Given the description of an element on the screen output the (x, y) to click on. 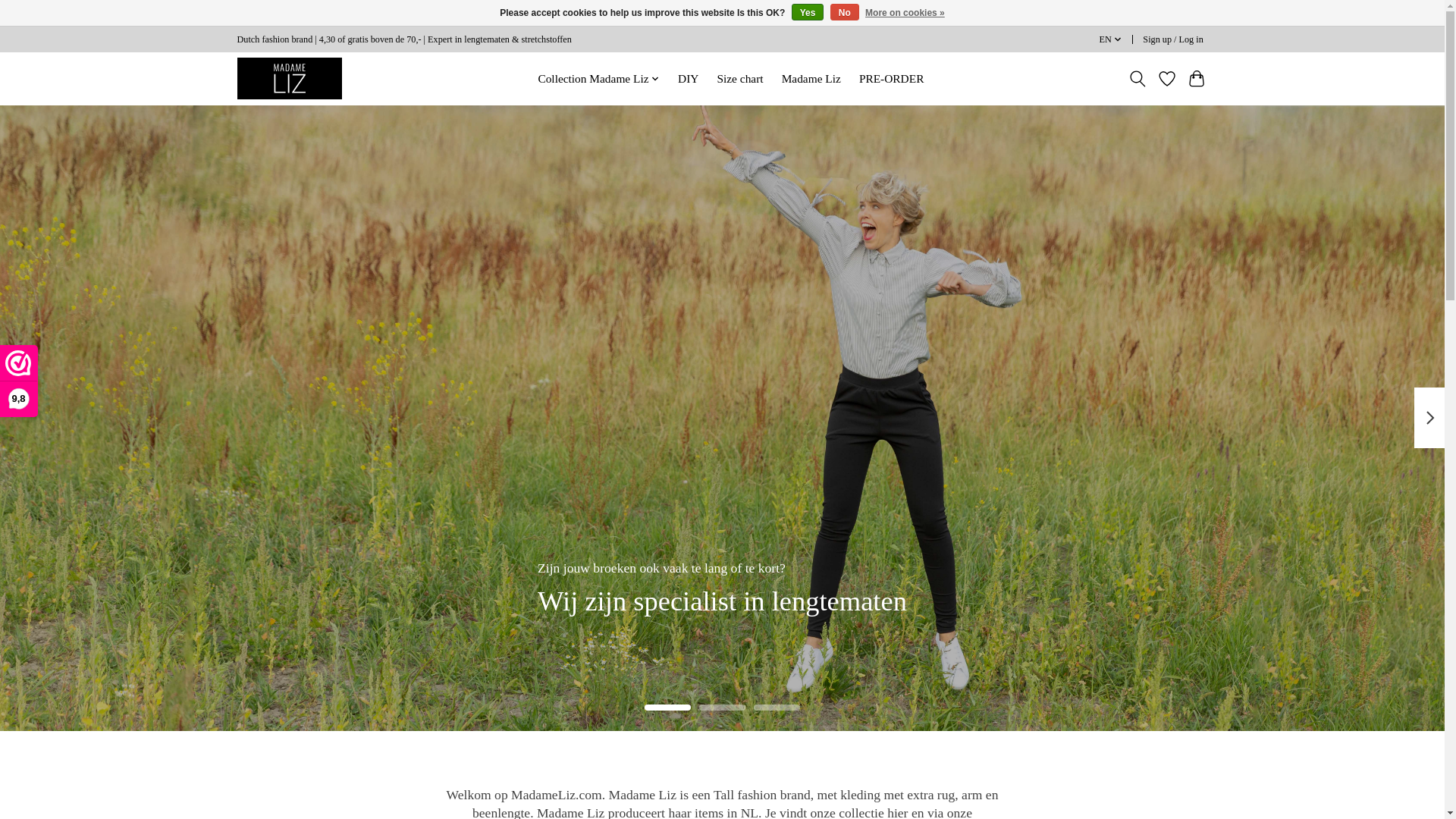
Size chart (739, 78)
My account (1173, 39)
Madame Liz (810, 78)
DIY (688, 78)
EN (1110, 39)
Madamliz (288, 78)
PRE-ORDER (891, 78)
Collection Madame Liz (598, 78)
